Given the description of an element on the screen output the (x, y) to click on. 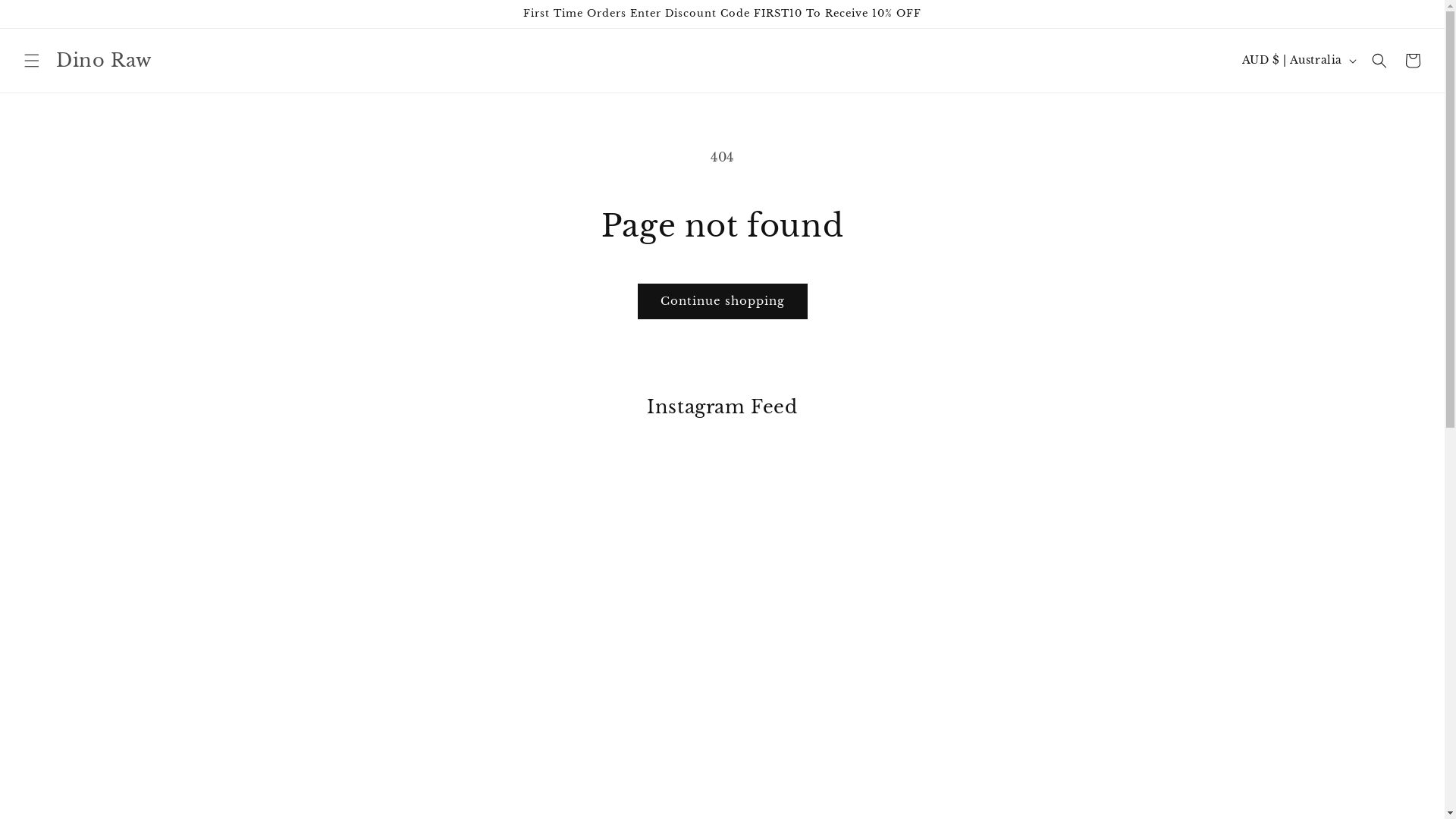
Dino Raw Element type: text (103, 60)
AUD $ | Australia Element type: text (1297, 60)
Continue shopping Element type: text (721, 301)
Cart Element type: text (1412, 60)
